Given the description of an element on the screen output the (x, y) to click on. 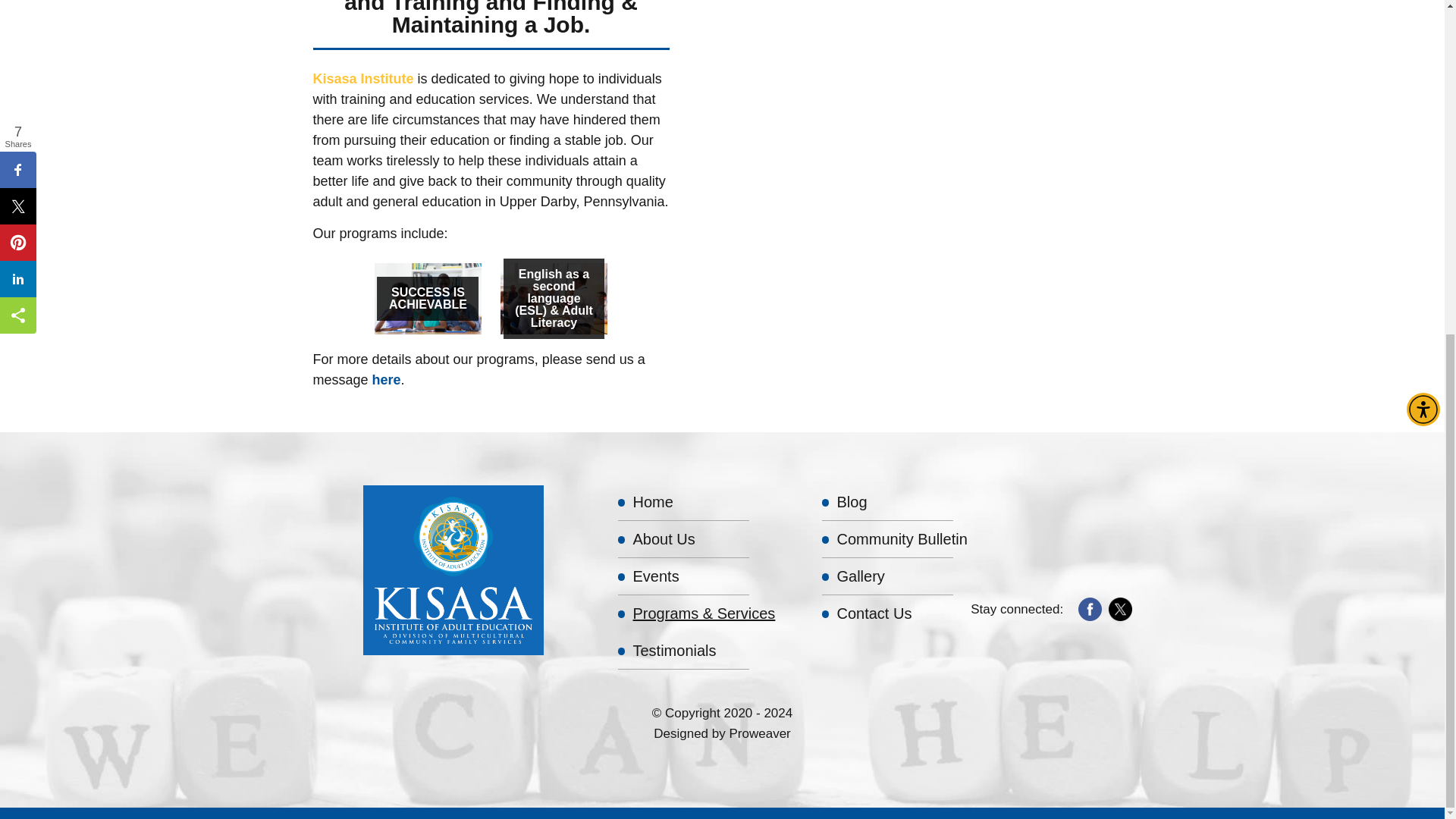
Home (712, 502)
here (386, 379)
Proweaver (759, 733)
SUCCESS IS ACHIEVABLE (427, 298)
Community Bulletin (916, 538)
Contact Us (916, 613)
Testimonials (712, 650)
Gallery (916, 576)
About Us (712, 538)
Events (712, 576)
